Given the description of an element on the screen output the (x, y) to click on. 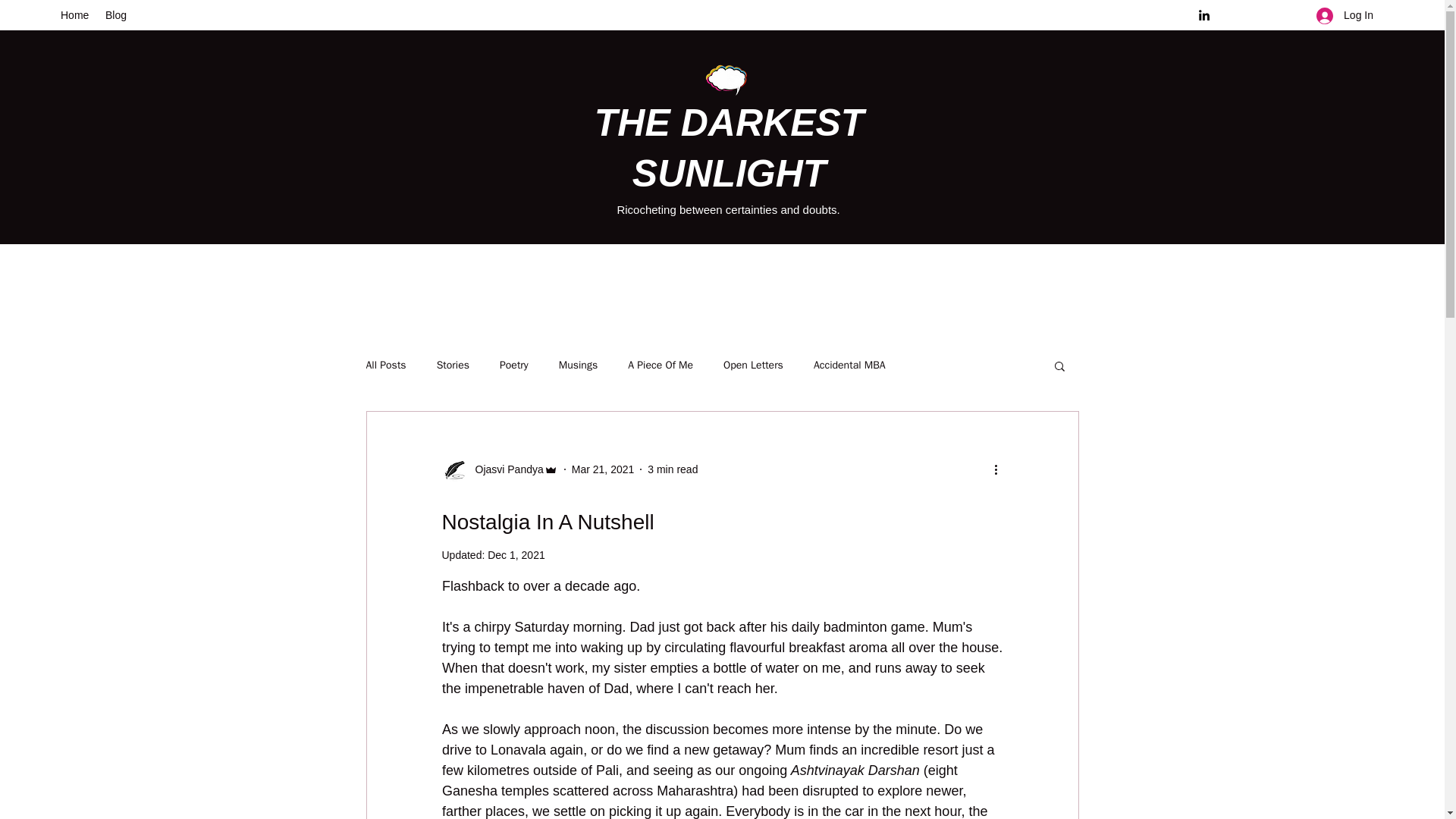
Log In (1345, 15)
Mar 21, 2021 (603, 468)
All Posts (385, 365)
Dec 1, 2021 (515, 554)
Ojasvi Pandya (504, 468)
Blog (116, 15)
Stories (452, 365)
Open Letters (753, 365)
Musings (577, 365)
3 min read (672, 468)
A Piece Of Me (660, 365)
Ojasvi Pandya (499, 469)
Home (74, 15)
Accidental MBA (849, 365)
Poetry (513, 365)
